Given the description of an element on the screen output the (x, y) to click on. 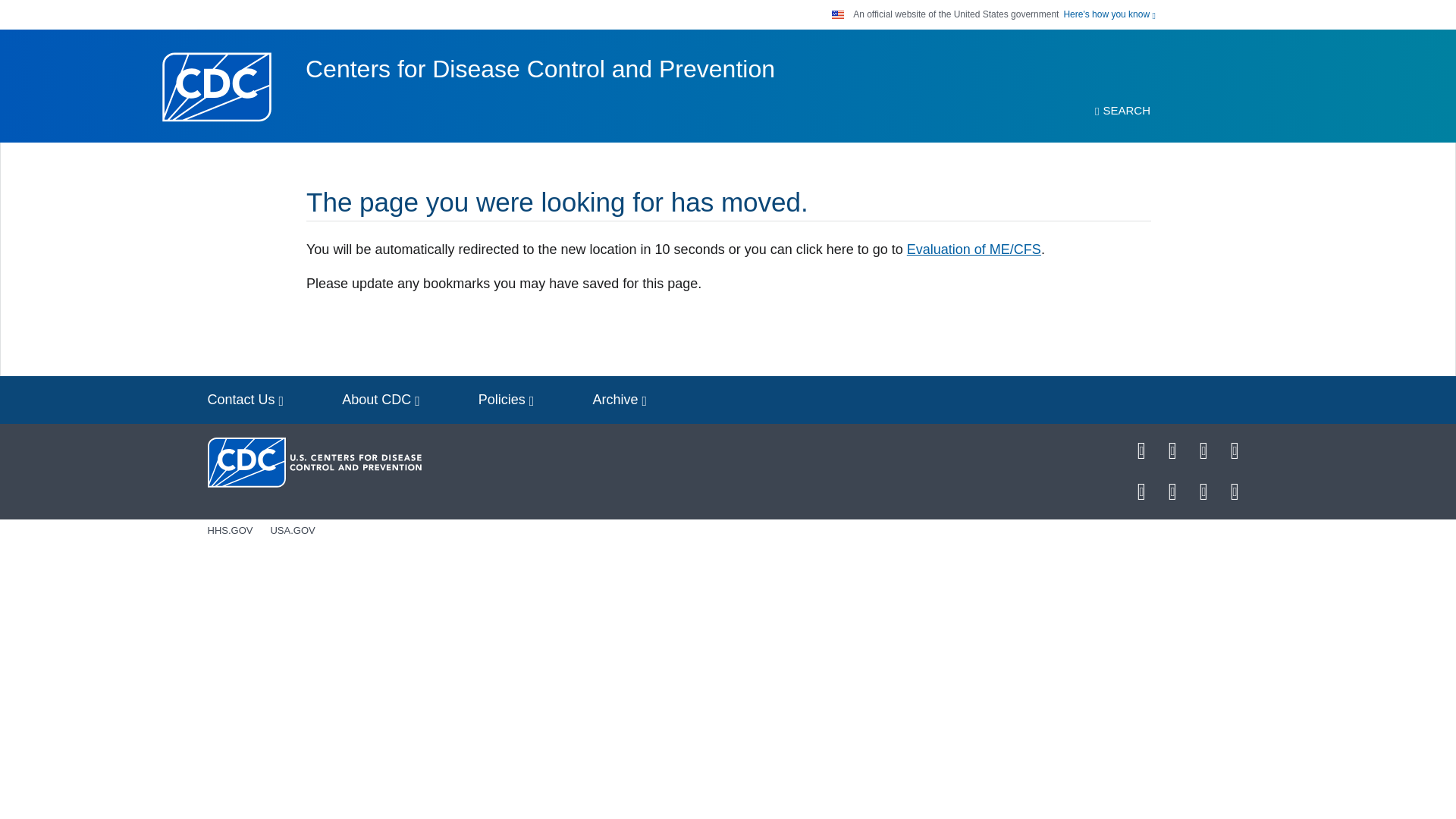
About CDC (381, 399)
Policies (506, 399)
Archive (619, 399)
SEARCH (1122, 110)
Contact Us (245, 399)
Here's how you know (1108, 14)
Centers for Disease Control and Prevention (539, 68)
